Given the description of an element on the screen output the (x, y) to click on. 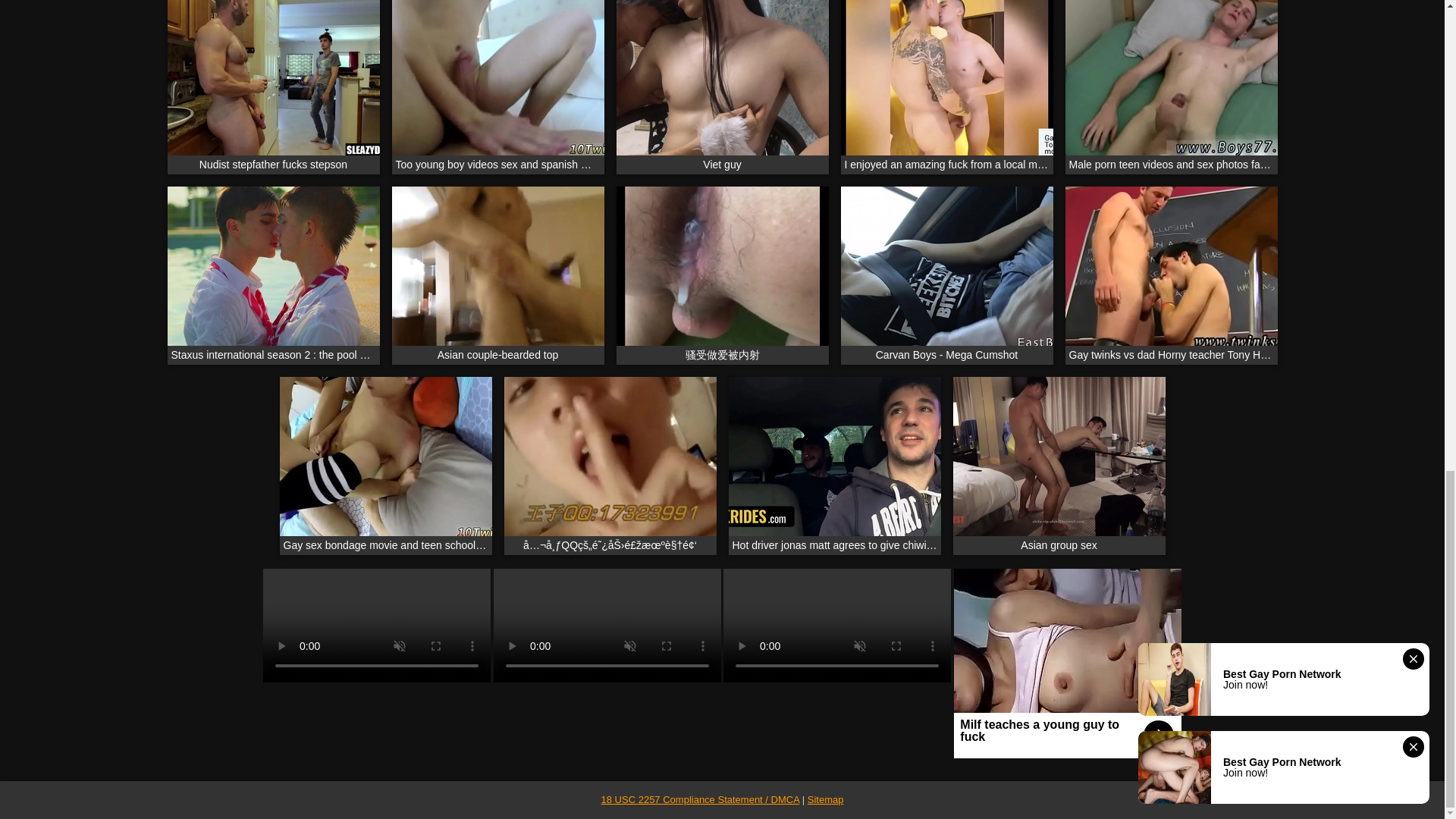
Nudist stepfather fucks stepson (272, 86)
Asian group sex (1058, 464)
Carvan Boys - Mega Cumshot (946, 275)
Nudist stepfather fucks stepson (272, 86)
Asian couple-bearded top (497, 275)
Carvan Boys - Mega Cumshot (946, 275)
Viet guy (721, 86)
Asian couple-bearded top (497, 275)
Viet guy (721, 86)
